Given the description of an element on the screen output the (x, y) to click on. 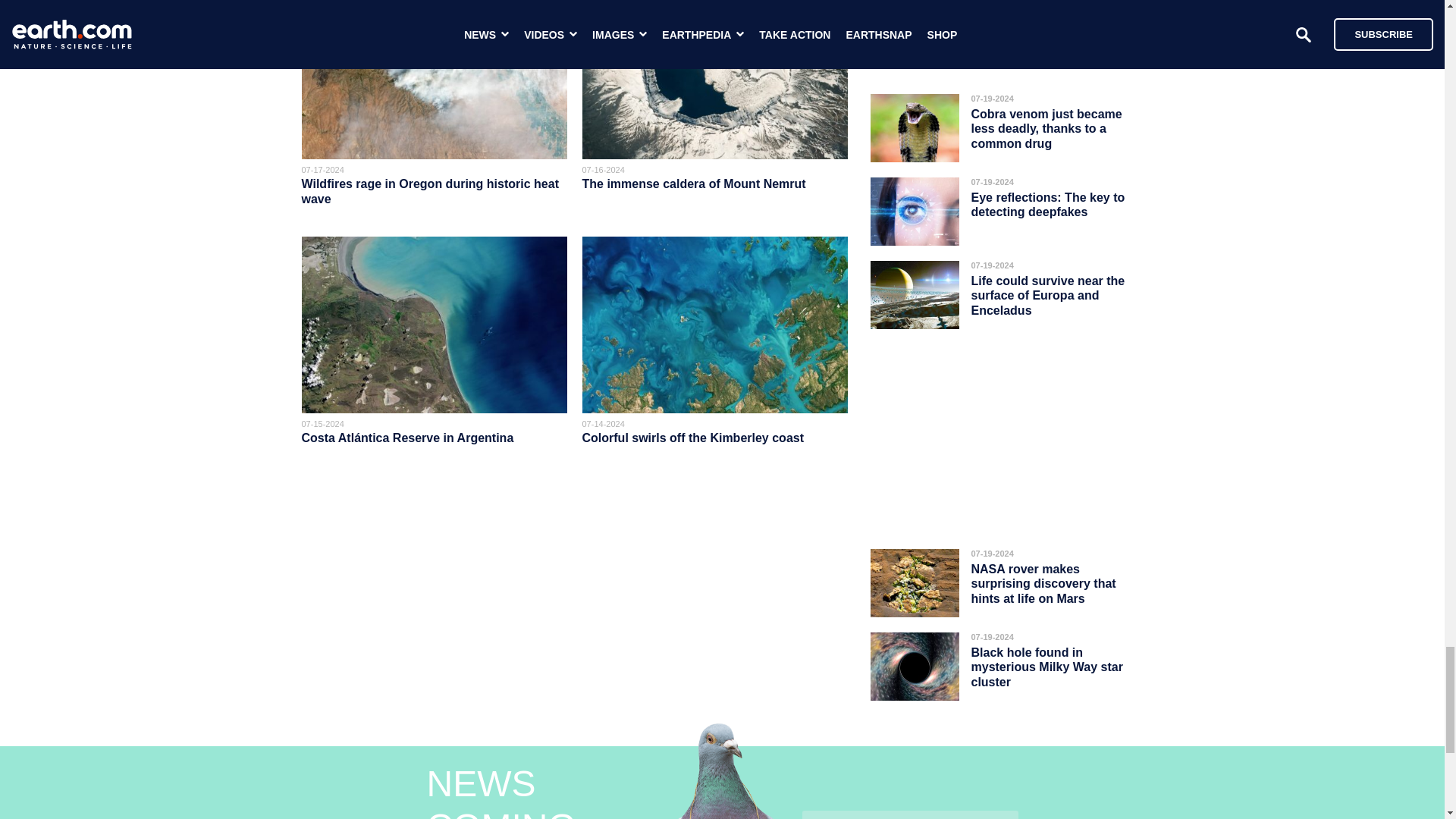
Colorful swirls off the Kimberley coast (693, 437)
Wildfires rage in Oregon during historic heat wave (430, 190)
The immense caldera of Mount Nemrut  (695, 183)
